Given the description of an element on the screen output the (x, y) to click on. 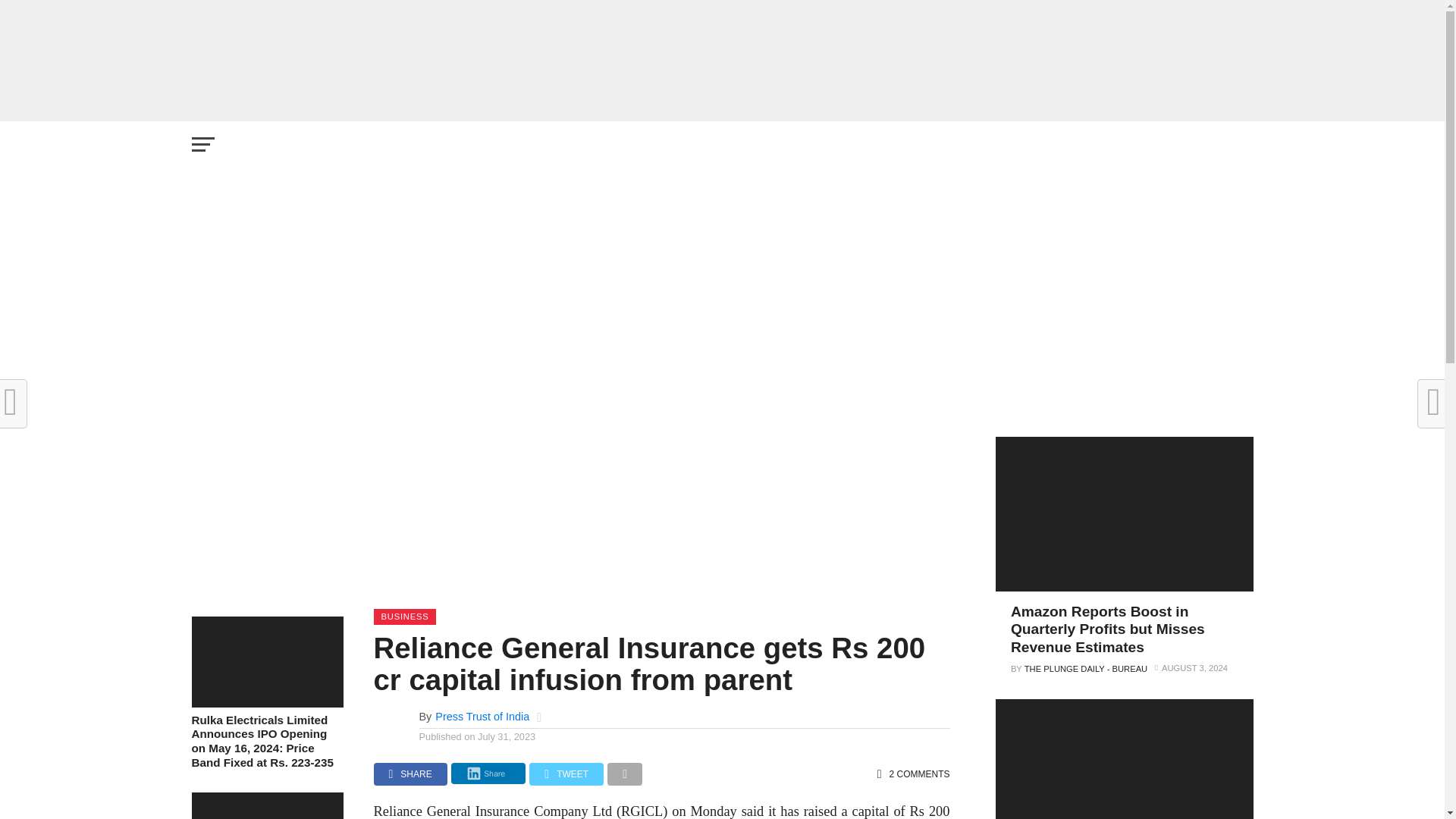
Share (488, 773)
Posts by The Plunge Daily - Bureau (1086, 668)
Press Trust of India (482, 716)
Posts by Press Trust of India (482, 716)
